Given the description of an element on the screen output the (x, y) to click on. 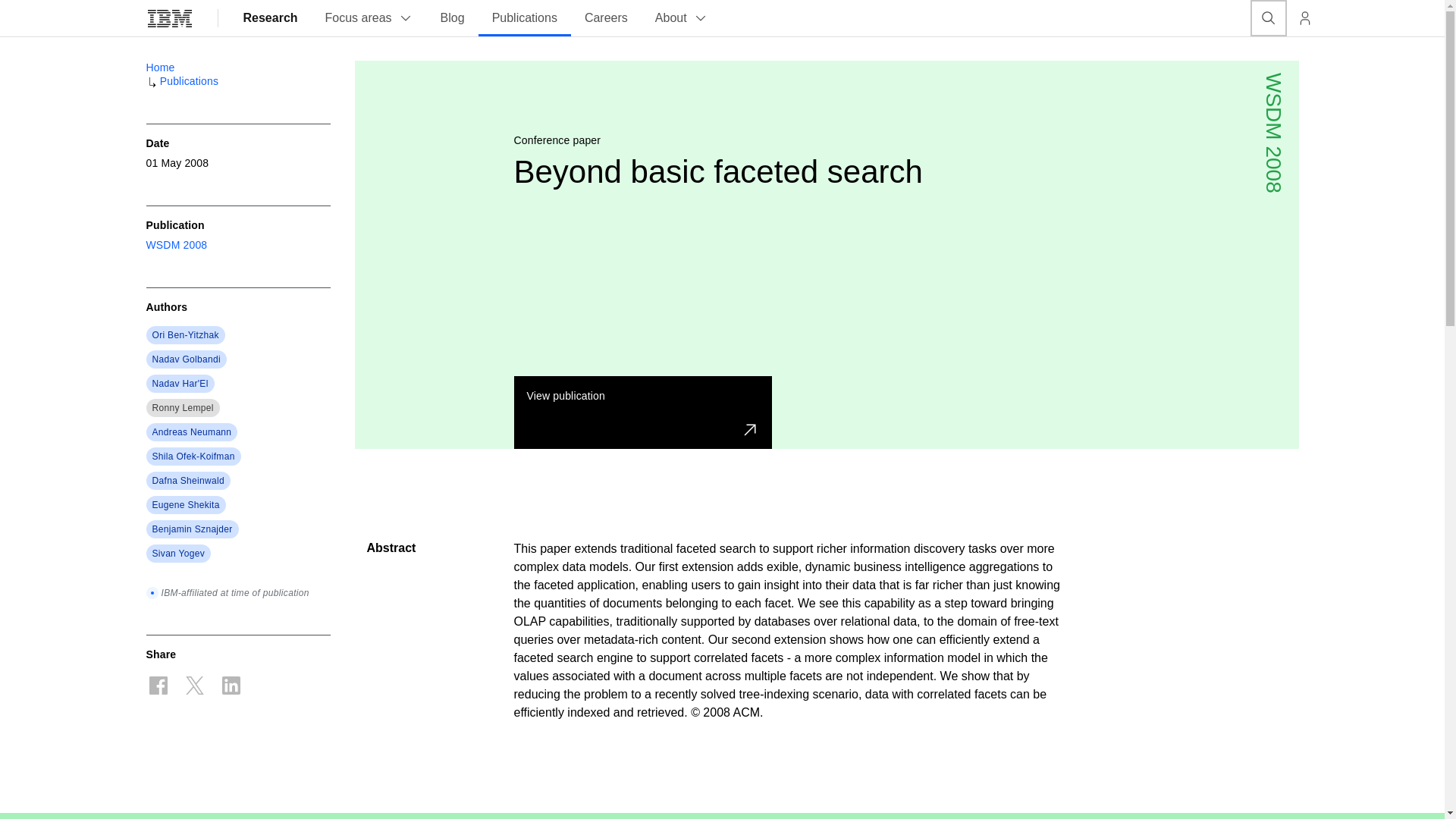
Ori Ben-Yitzhak (184, 335)
Ronny Lempel (181, 408)
Nadav Golbandi (186, 358)
Andreas Neumann (191, 431)
Sivan Yogev (178, 553)
Shila Ofek-Koifman (192, 456)
Dafna Sheinwald (187, 480)
Benjamin Sznajder (191, 529)
Eugene Shekita (185, 504)
Nadav Har'El (179, 383)
